Given the description of an element on the screen output the (x, y) to click on. 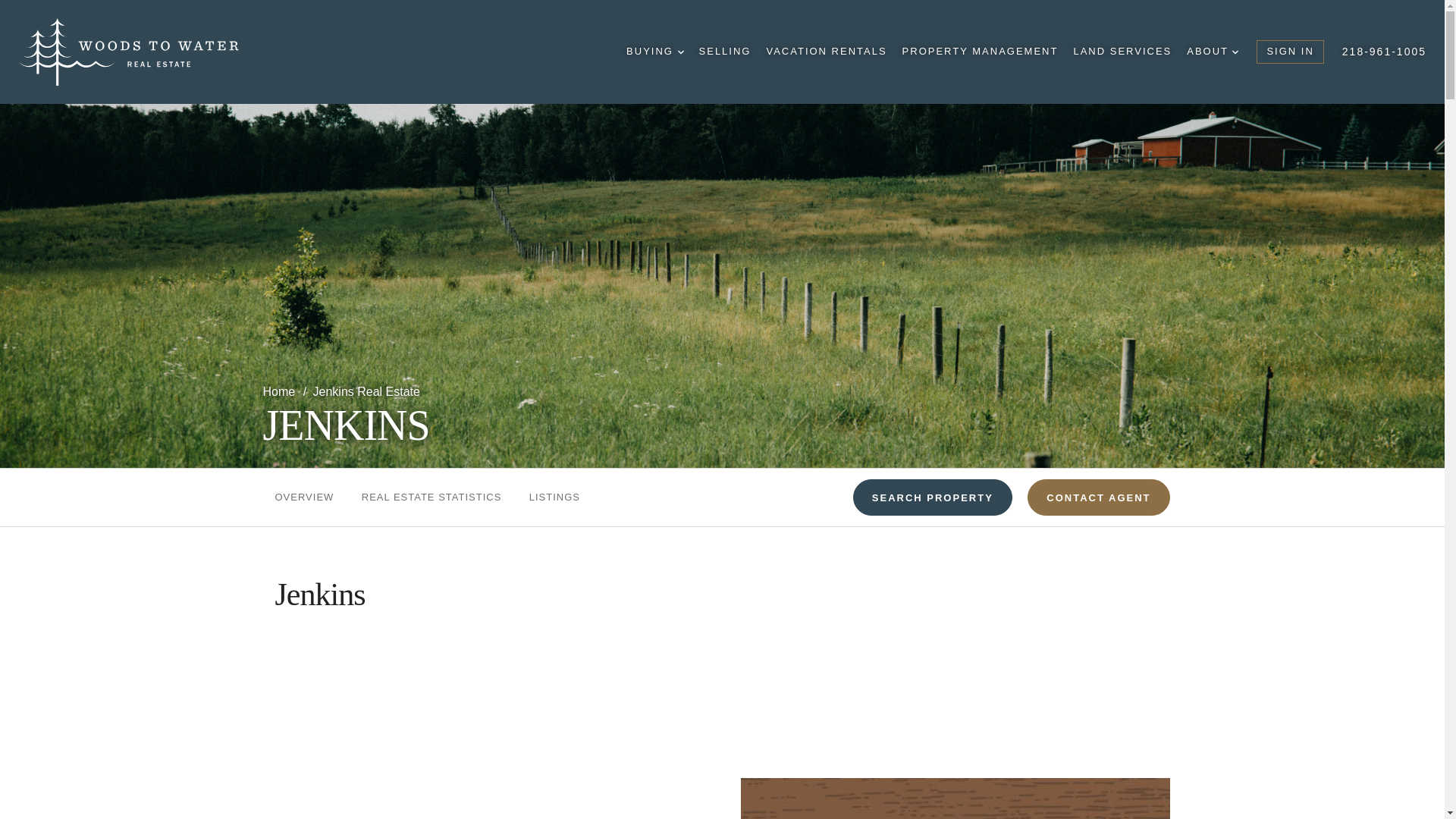
REAL ESTATE STATISTICS (431, 497)
LAND SERVICES (1122, 51)
SIGN IN (1289, 51)
CONTACT AGENT (1098, 497)
PROPERTY MANAGEMENT (980, 51)
Home (280, 391)
VACATION RENTALS (825, 51)
BUYING DROPDOWN ARROW (654, 51)
OVERVIEW (304, 497)
DROPDOWN ARROW (1235, 52)
Jenkins Real Estate (366, 391)
LISTINGS (554, 497)
ABOUT DROPDOWN ARROW (1212, 51)
